Given the description of an element on the screen output the (x, y) to click on. 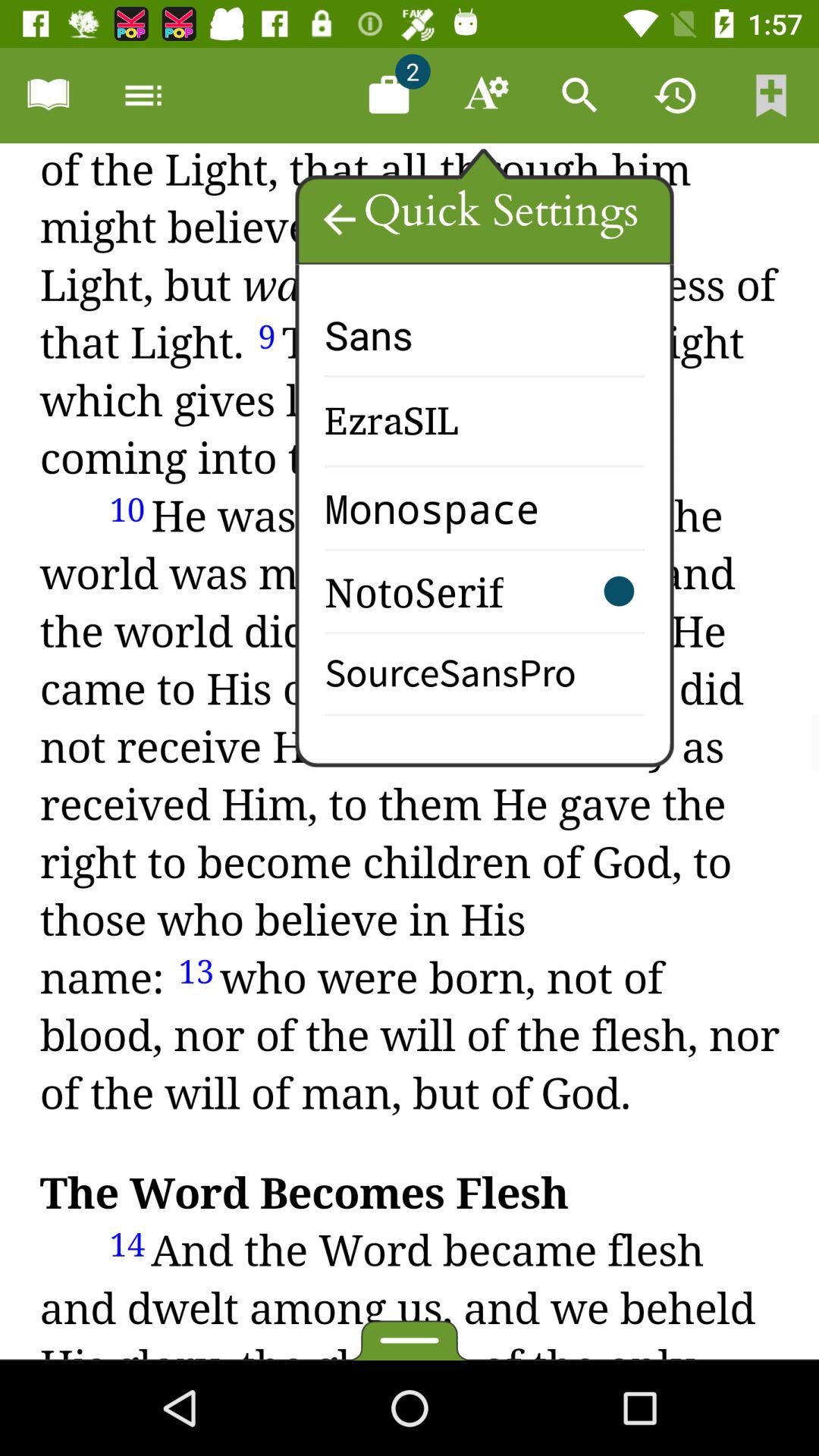
select the icon left to quick (339, 219)
click on third icon from the top right corner (580, 95)
select sans which is below quick settings on the page (406, 349)
